Given the description of an element on the screen output the (x, y) to click on. 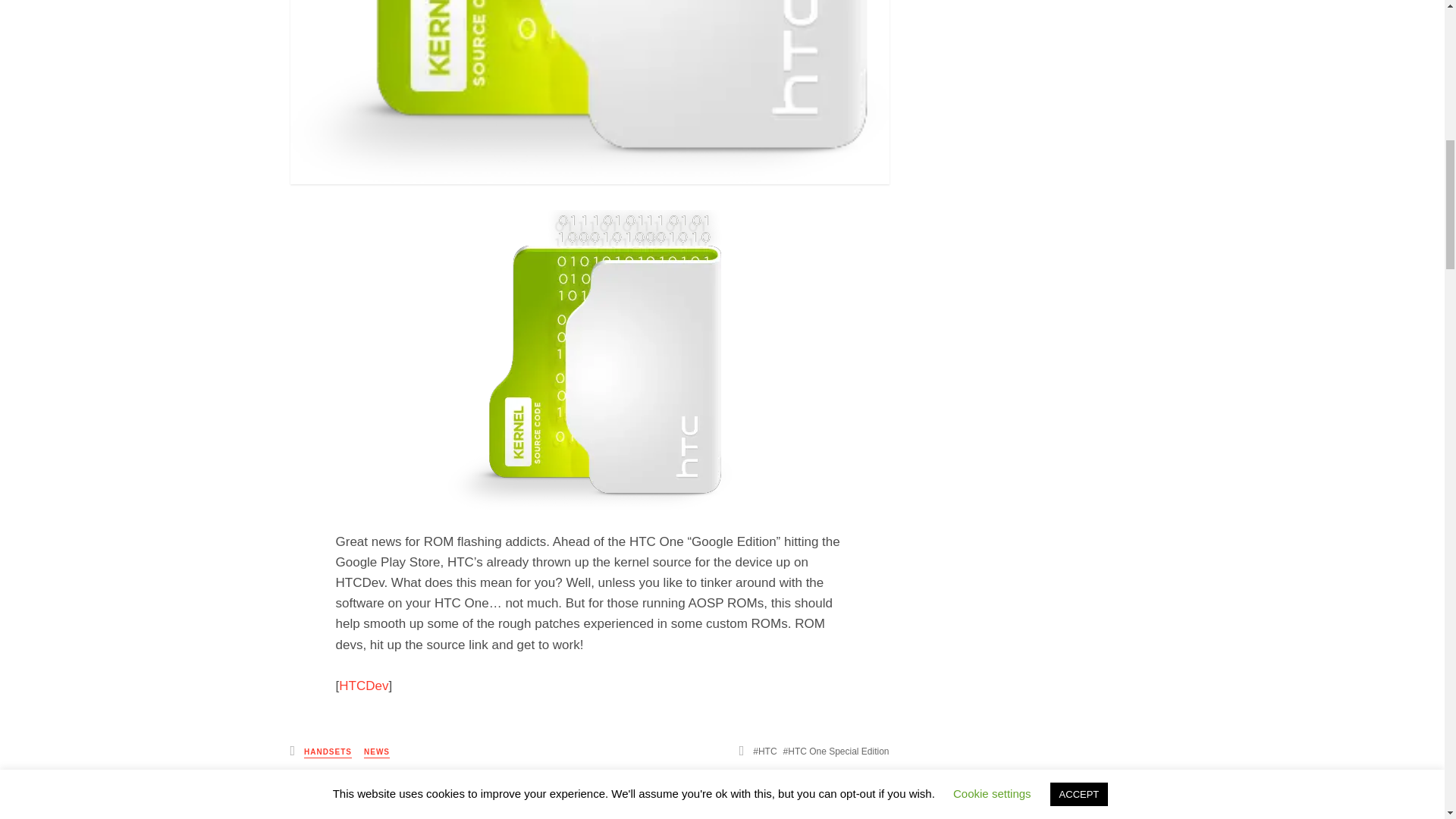
HTCDev (363, 685)
NEWS (377, 752)
8 (858, 801)
HTC (764, 751)
HTC One Special Edition (836, 751)
HANDSETS (328, 752)
